Given the description of an element on the screen output the (x, y) to click on. 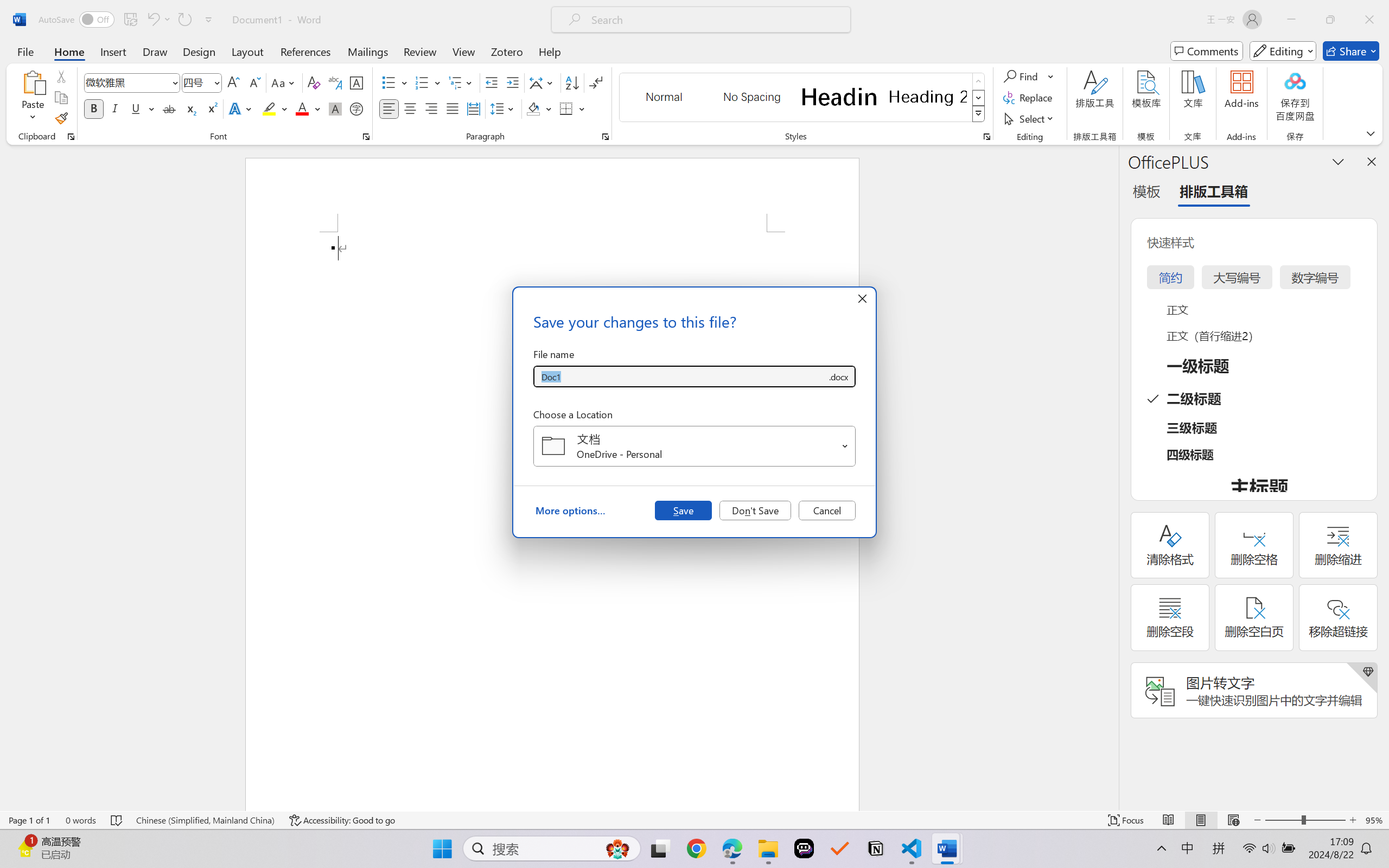
Save as type (837, 376)
Undo <ApplyStyleToDoc>b__0 (158, 19)
Class: NetUIScrollBar (1111, 477)
